Given the description of an element on the screen output the (x, y) to click on. 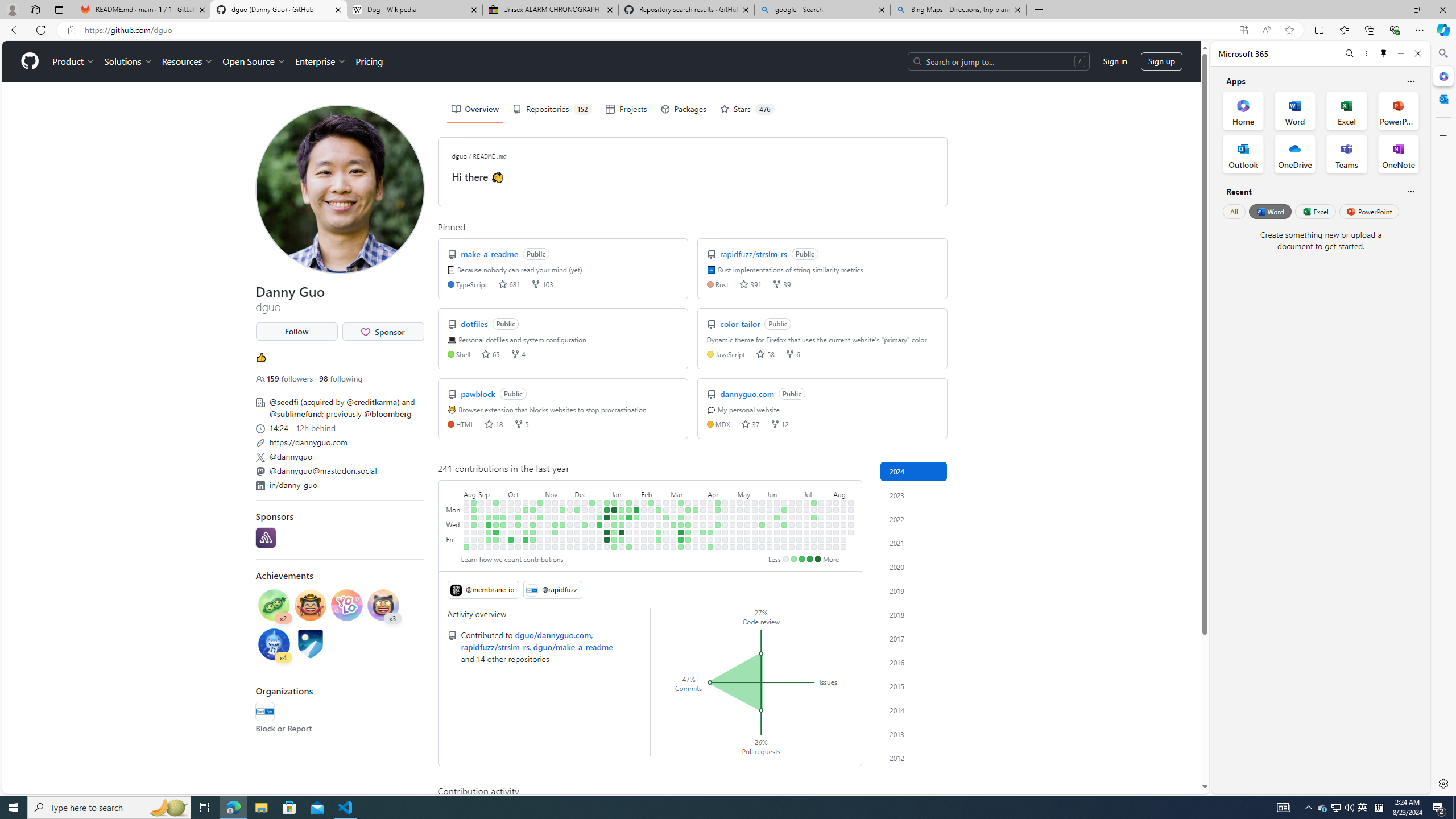
Product (74, 60)
September (492, 492)
Projects (625, 108)
@dannyguo@mastodon.social (338, 469)
1 contribution on March 21st. (688, 531)
July (817, 492)
1 contribution on April 4th. (703, 531)
No contributions on May 19th. (754, 502)
1 contribution on March 13th. (681, 524)
https://dannyguo.com (308, 441)
pawblock (478, 393)
2 contributions on August 26th. (466, 546)
No contributions on May 24th. (754, 539)
Solutions (128, 60)
No contributions on March 28th. (695, 531)
